Given the description of an element on the screen output the (x, y) to click on. 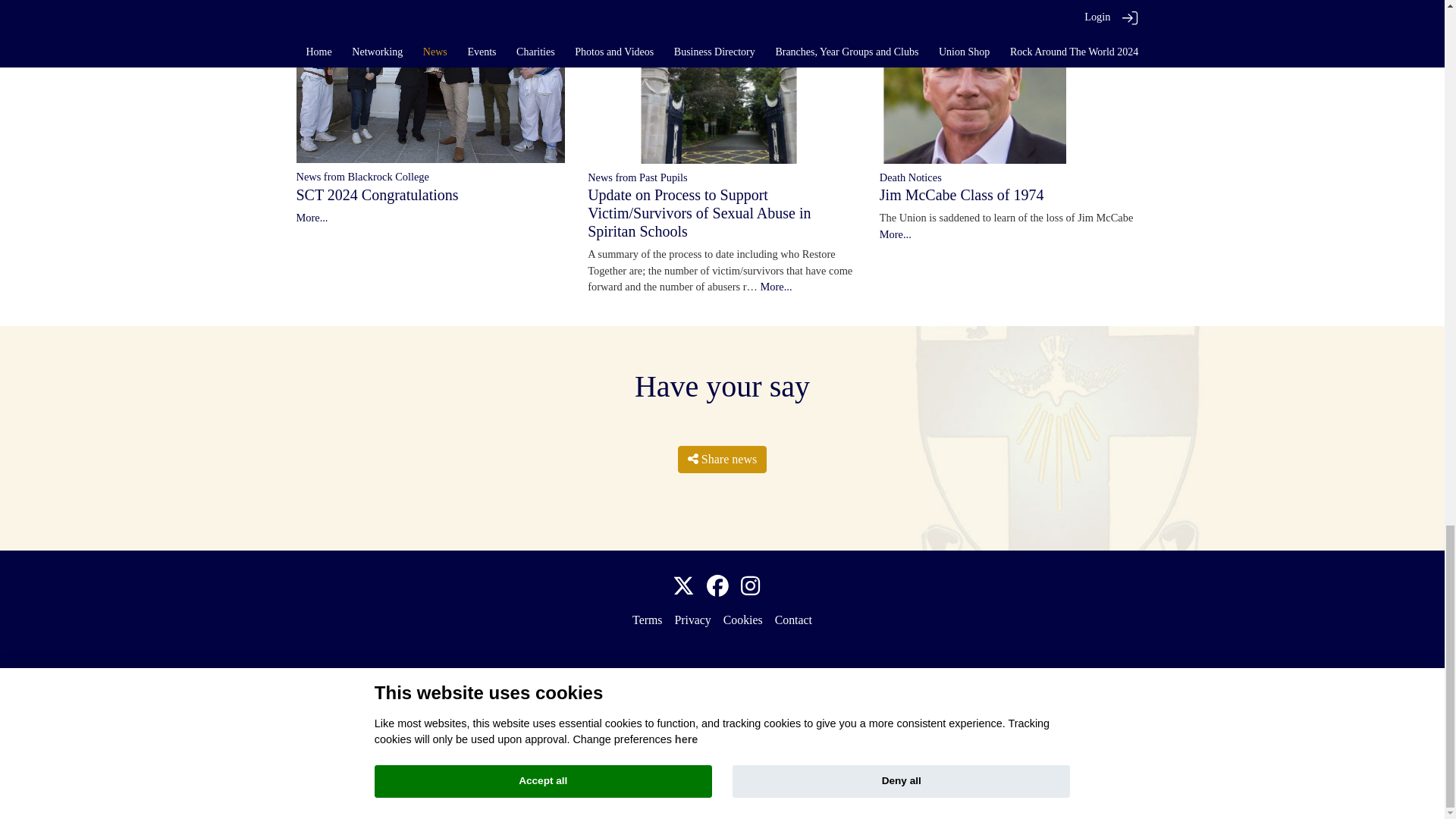
Twitter (683, 586)
Instagram (750, 586)
Facebook (717, 586)
RocTel International (722, 711)
